Given the description of an element on the screen output the (x, y) to click on. 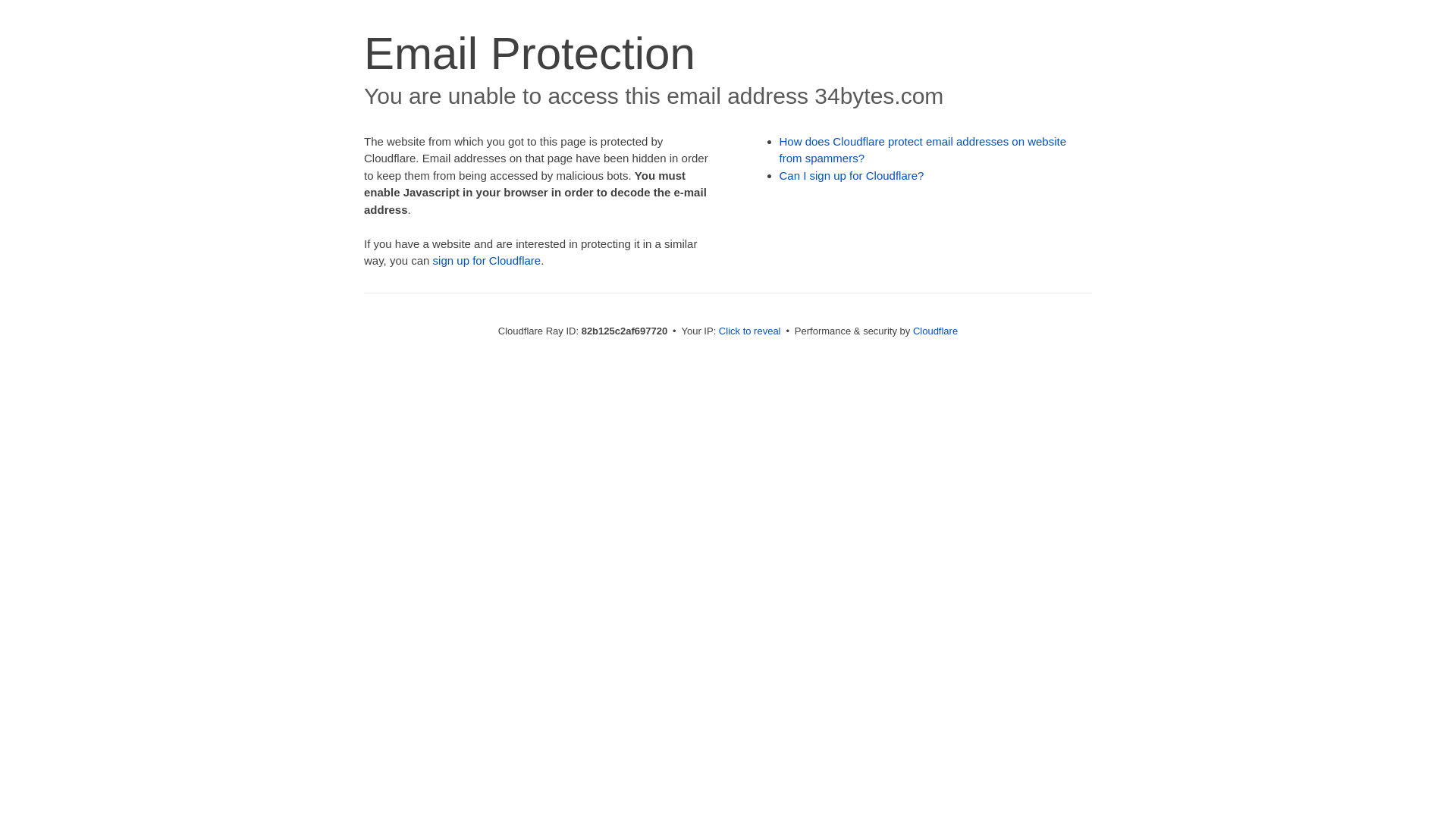
sign up for Cloudflare Element type: text (487, 260)
Can I sign up for Cloudflare? Element type: text (851, 175)
Click to reveal Element type: text (749, 330)
Cloudflare Element type: text (935, 330)
